Given the description of an element on the screen output the (x, y) to click on. 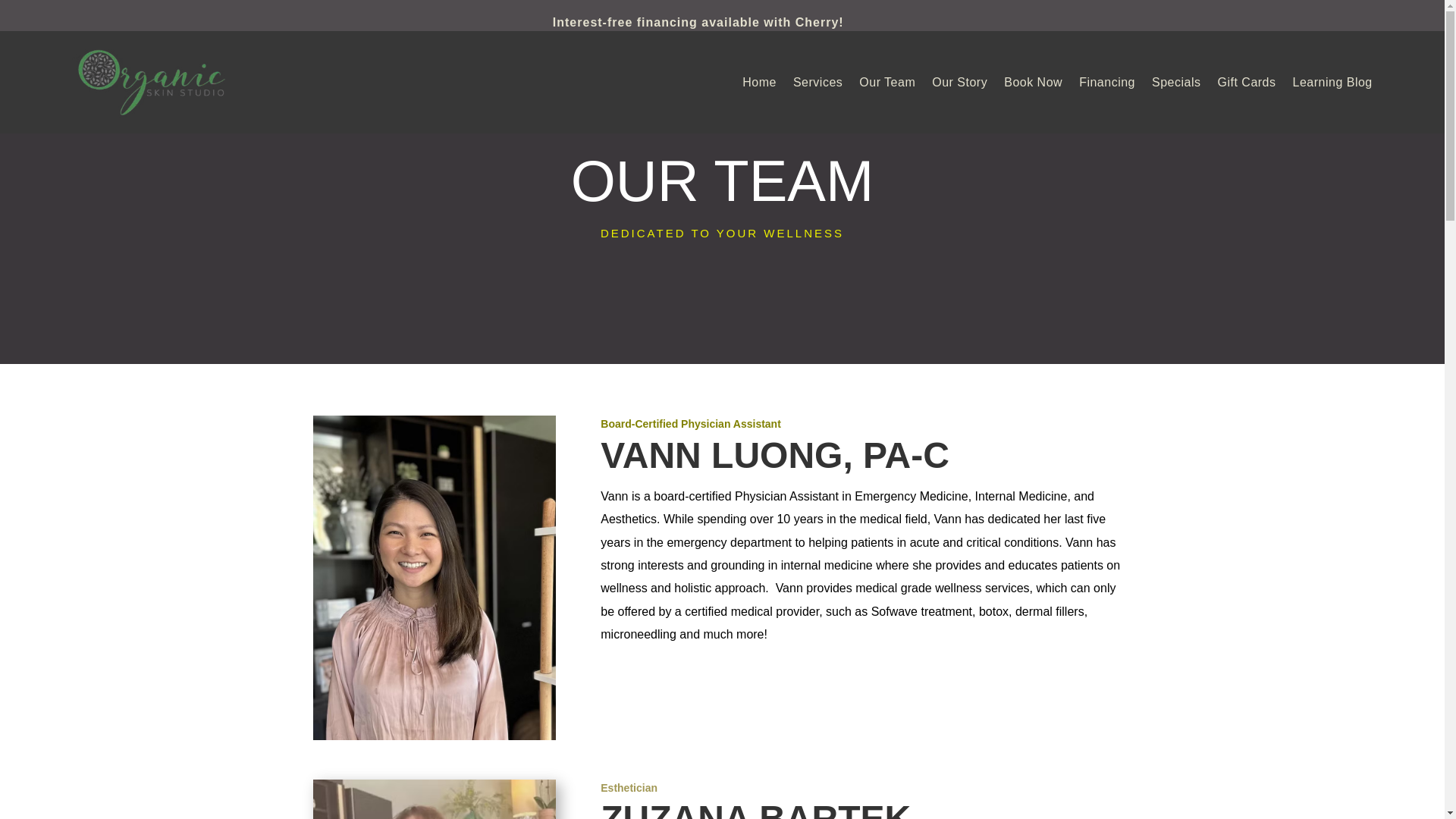
Learning Blog (1331, 81)
Zuzana-grad-lt (433, 799)
